Given the description of an element on the screen output the (x, y) to click on. 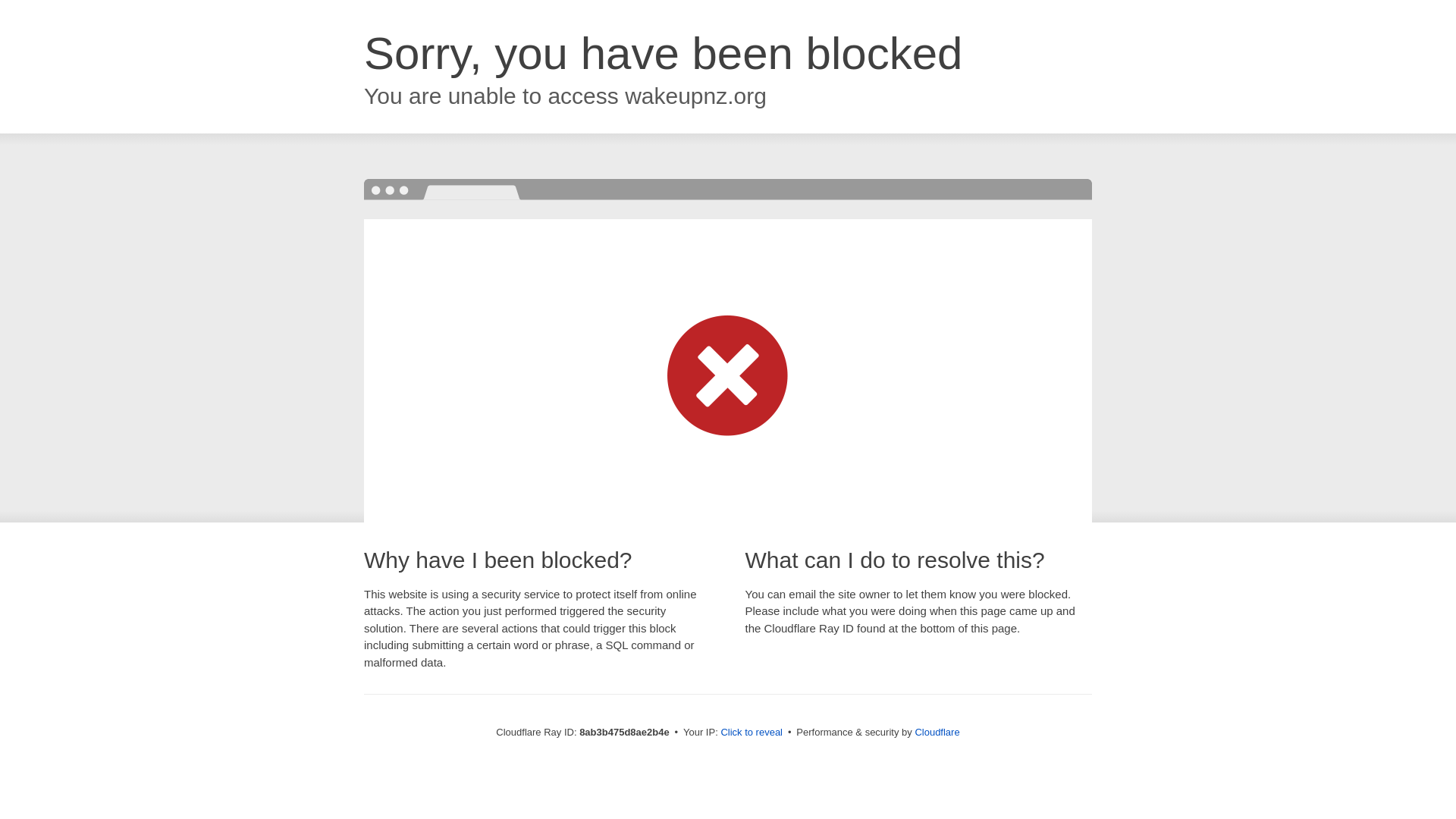
Cloudflare (936, 731)
Click to reveal (751, 732)
